Given the description of an element on the screen output the (x, y) to click on. 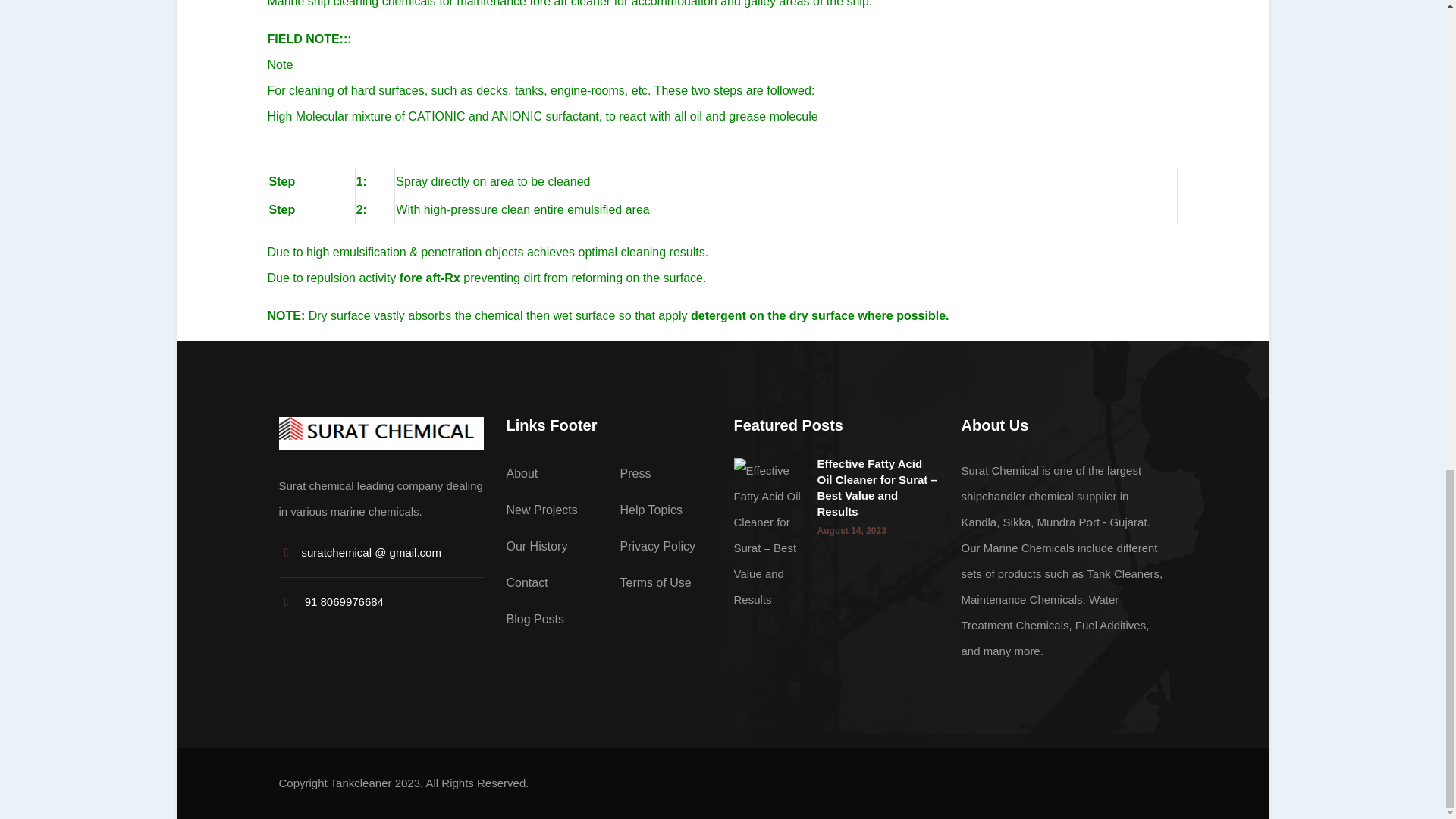
Press (635, 472)
Terms of Use (655, 582)
Help Topics (651, 509)
Blog Posts (535, 618)
Privacy Policy (657, 545)
New Projects (542, 509)
Our History (536, 545)
Contact (527, 582)
About (522, 472)
